Given the description of an element on the screen output the (x, y) to click on. 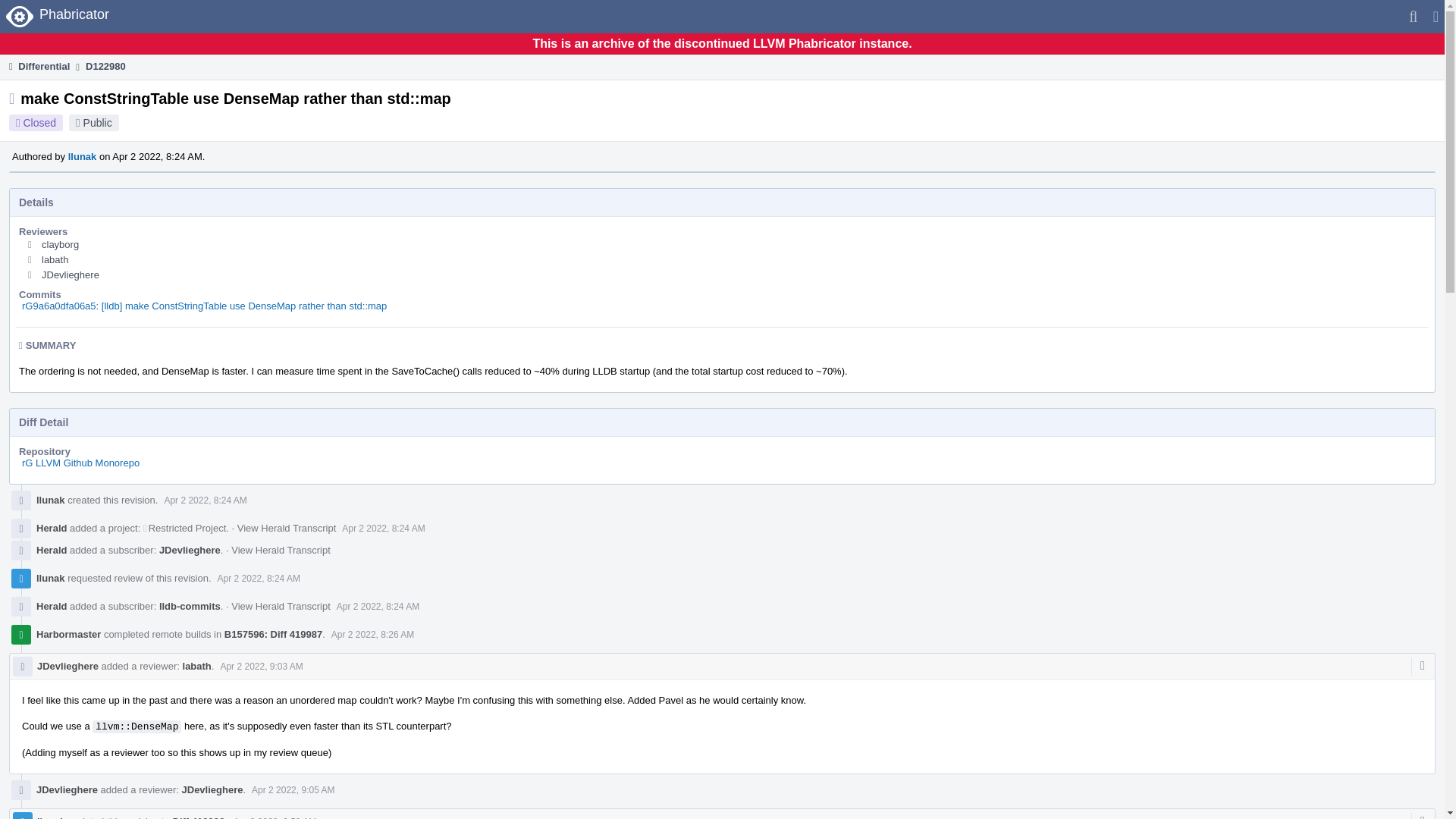
llunak (50, 577)
clayborg (60, 244)
JDevlieghere (70, 274)
View Herald Transcript (286, 527)
View Herald Transcript (280, 550)
rG LLVM Github Monorepo (80, 462)
Apr 2 2022, 8:24 AM (383, 528)
Herald (51, 605)
Herald (51, 527)
Apr 2 2022, 8:24 AM (257, 578)
Apr 2 2022, 8:24 AM (204, 500)
Herald (51, 550)
lldb-commits (189, 605)
Phabricator (58, 16)
Apr 2 2022, 8:24 AM (377, 606)
